Given the description of an element on the screen output the (x, y) to click on. 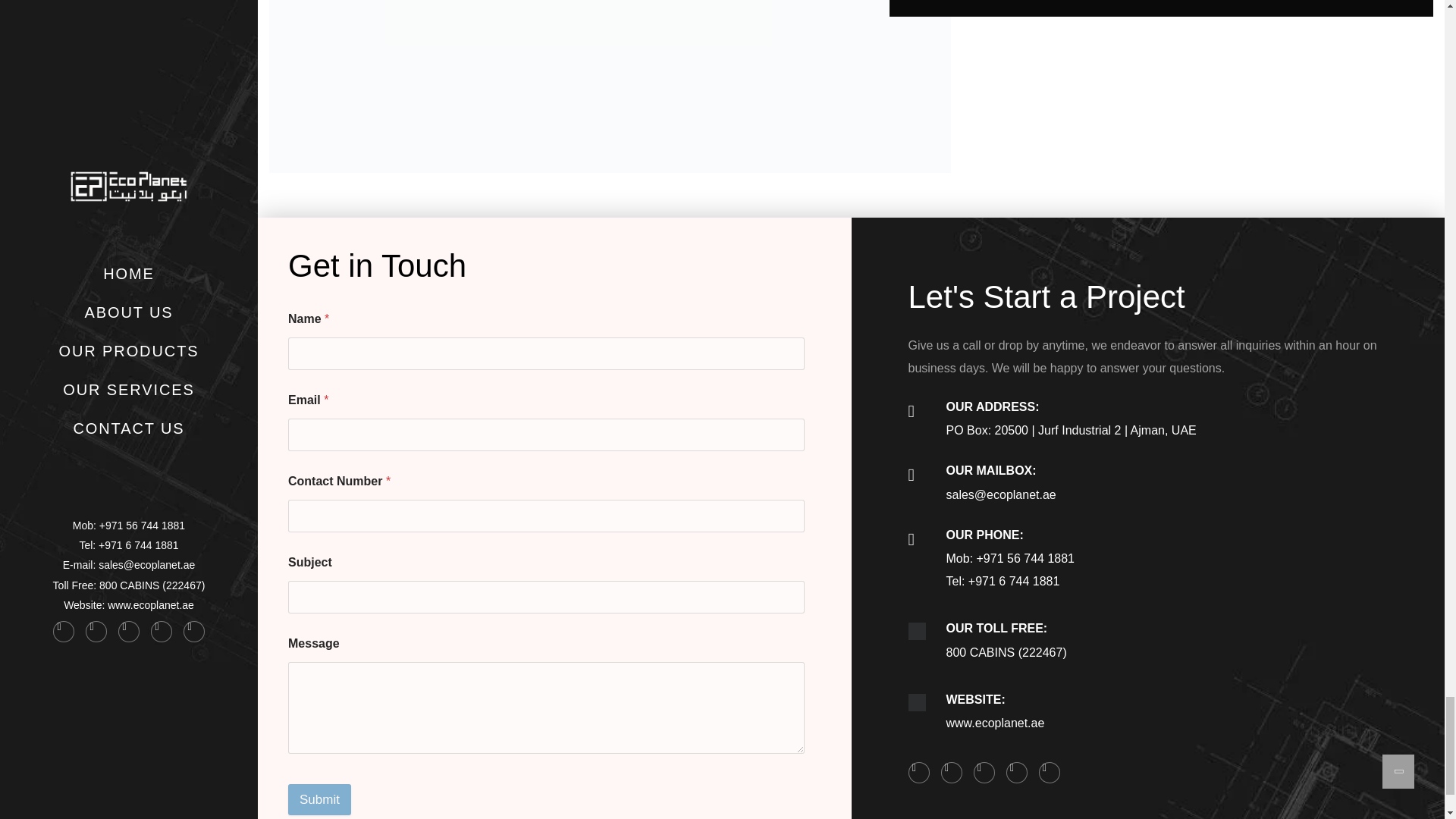
toll-free (917, 630)
